Given the description of an element on the screen output the (x, y) to click on. 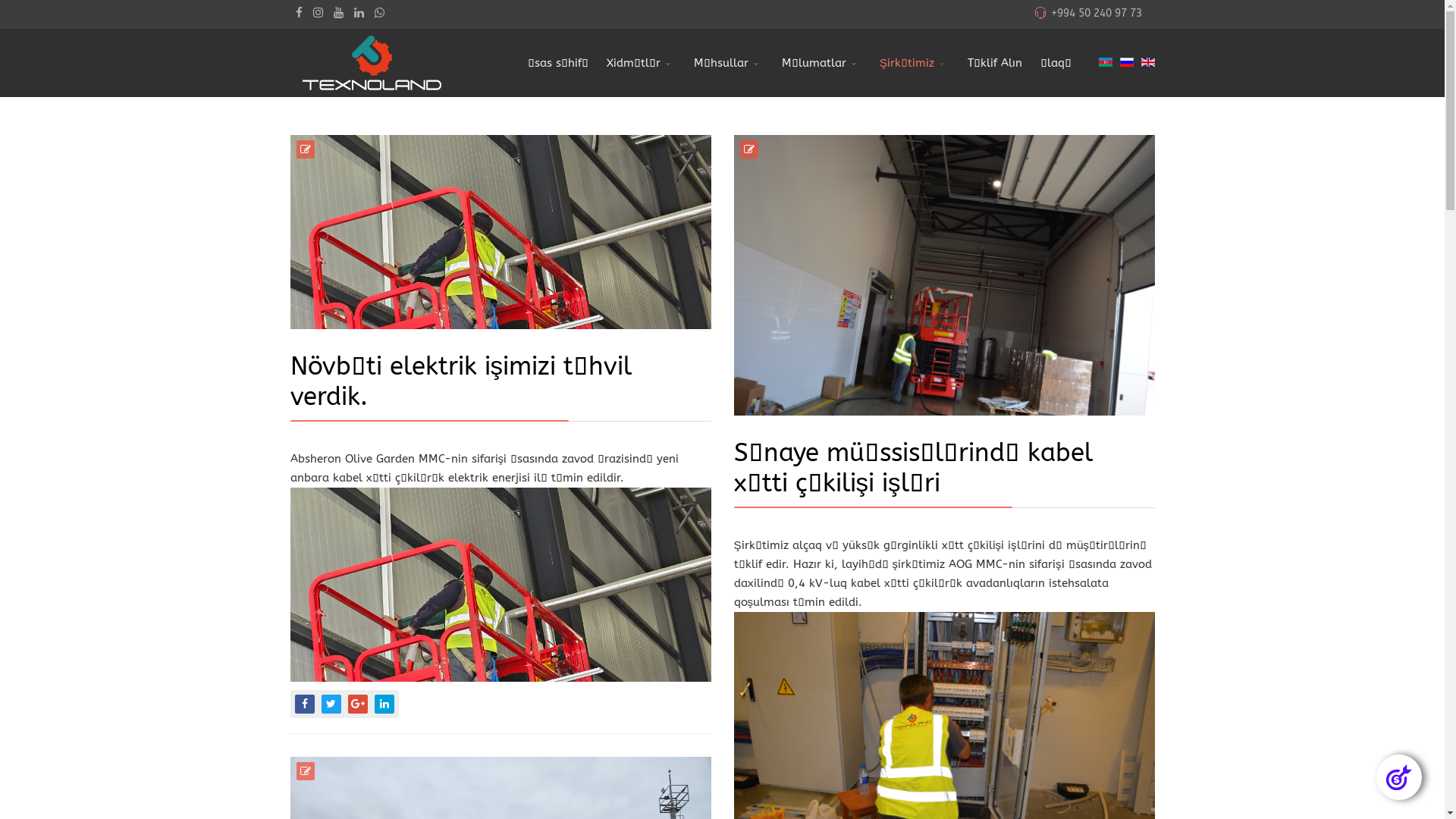
English (UK) Element type: hover (1147, 61)
+994 50 240 97 73 Element type: text (1096, 13)
Russian (Russia) Element type: hover (1125, 61)
Azerbaijan (az-AZ) Element type: hover (1104, 61)
